Given the description of an element on the screen output the (x, y) to click on. 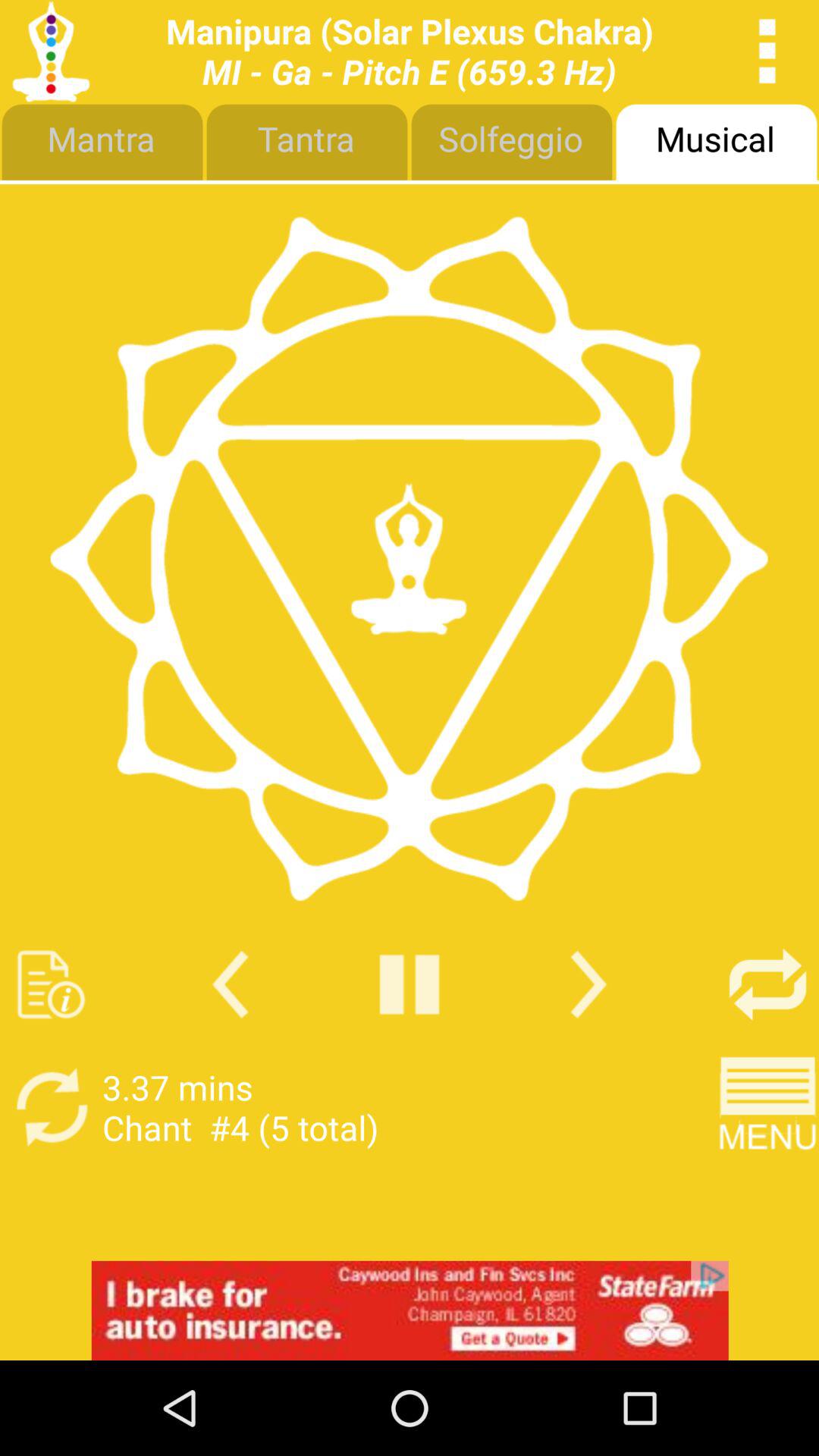
go to previous (230, 984)
